Given the description of an element on the screen output the (x, y) to click on. 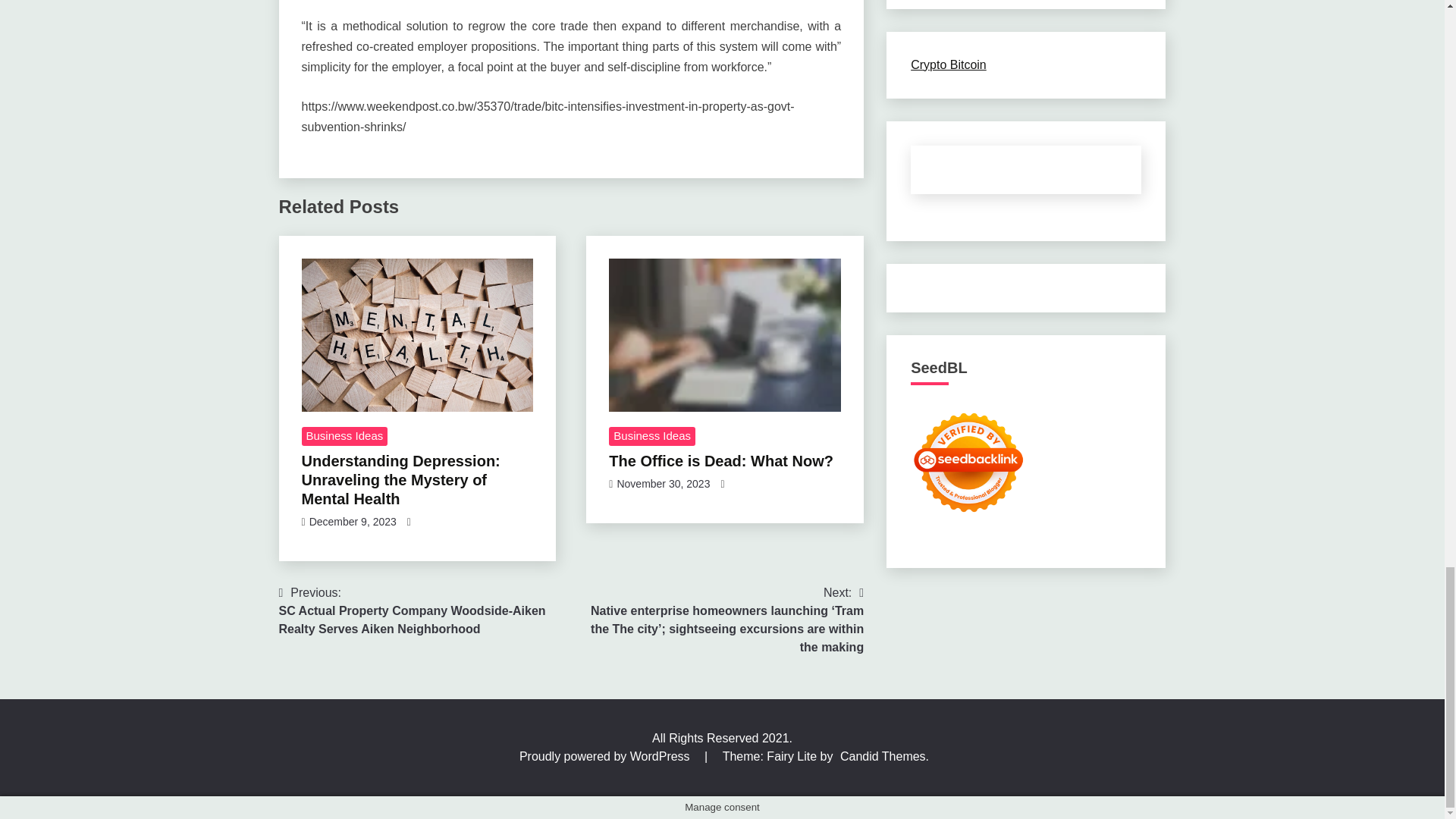
December 9, 2023 (352, 521)
November 30, 2023 (662, 483)
Business Ideas (344, 436)
Business Ideas (651, 436)
Seedbacklink (968, 462)
The Office is Dead: What Now? (724, 334)
The Office is Dead: What Now? (720, 460)
